Given the description of an element on the screen output the (x, y) to click on. 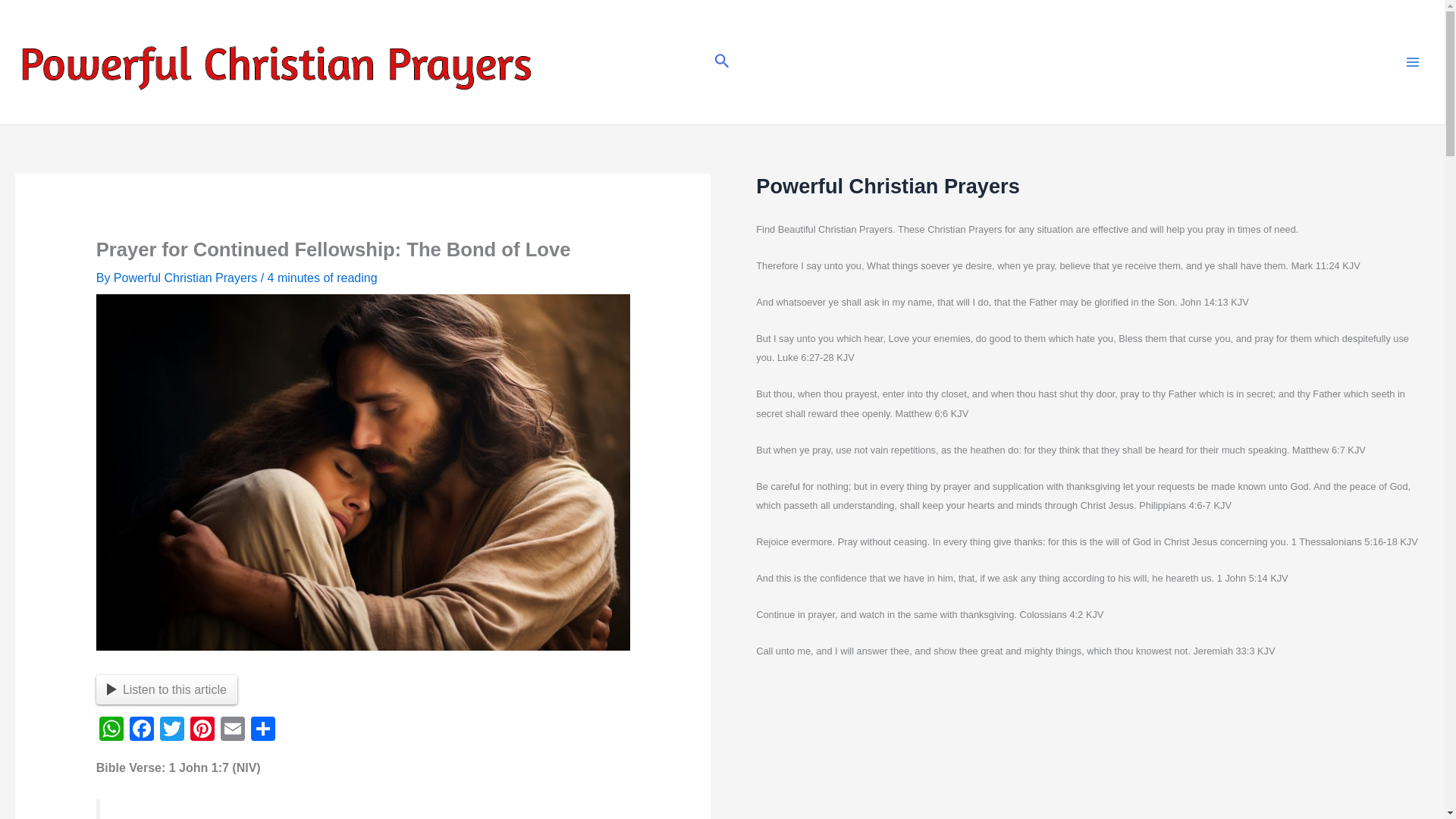
Twitter (172, 730)
Pinterest (201, 730)
Email (231, 730)
Facebook (141, 730)
View all posts by Powerful Christian Prayers (186, 277)
Pinterest (201, 730)
Facebook (141, 730)
Powerful Christian Prayers (186, 277)
WhatsApp (111, 730)
Twitter (172, 730)
